Given the description of an element on the screen output the (x, y) to click on. 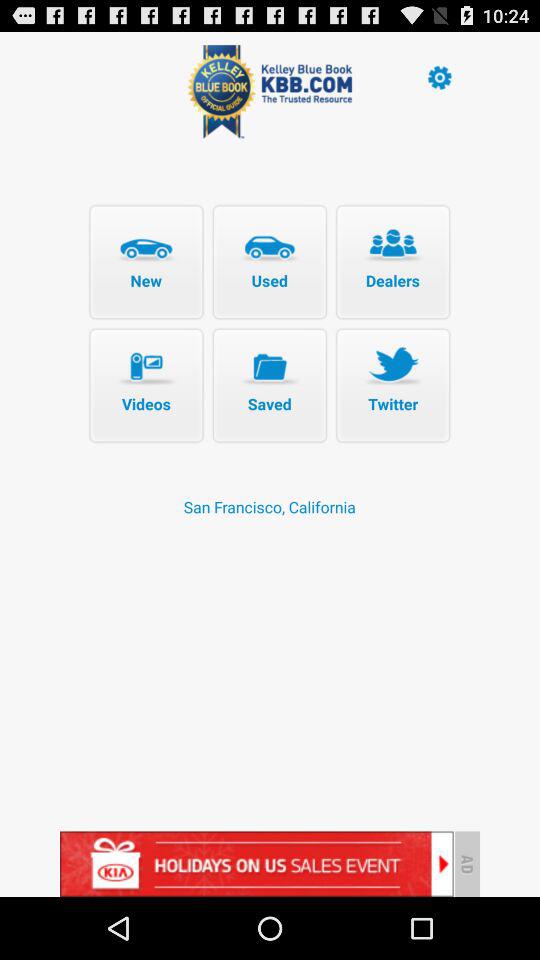
open settings (439, 75)
